Given the description of an element on the screen output the (x, y) to click on. 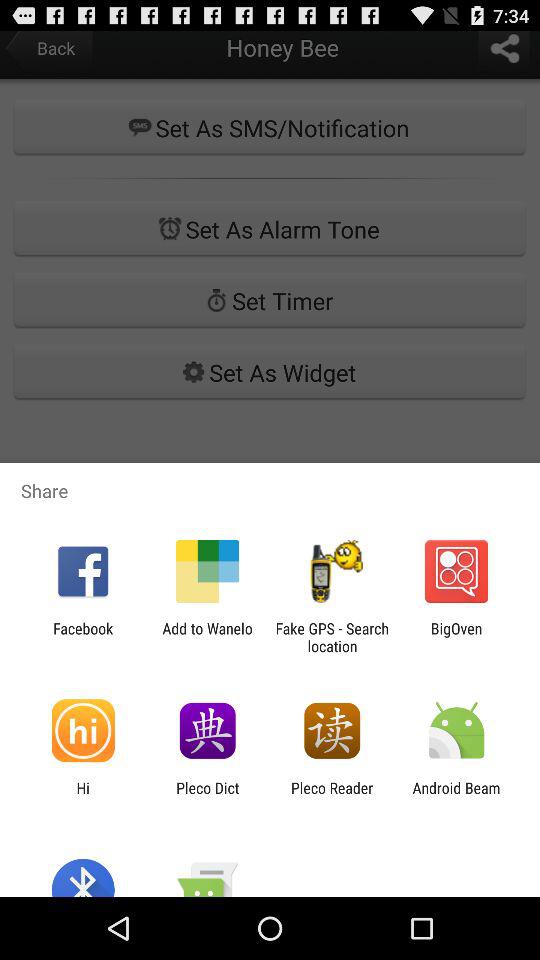
turn on the item to the left of the pleco dict app (83, 796)
